Given the description of an element on the screen output the (x, y) to click on. 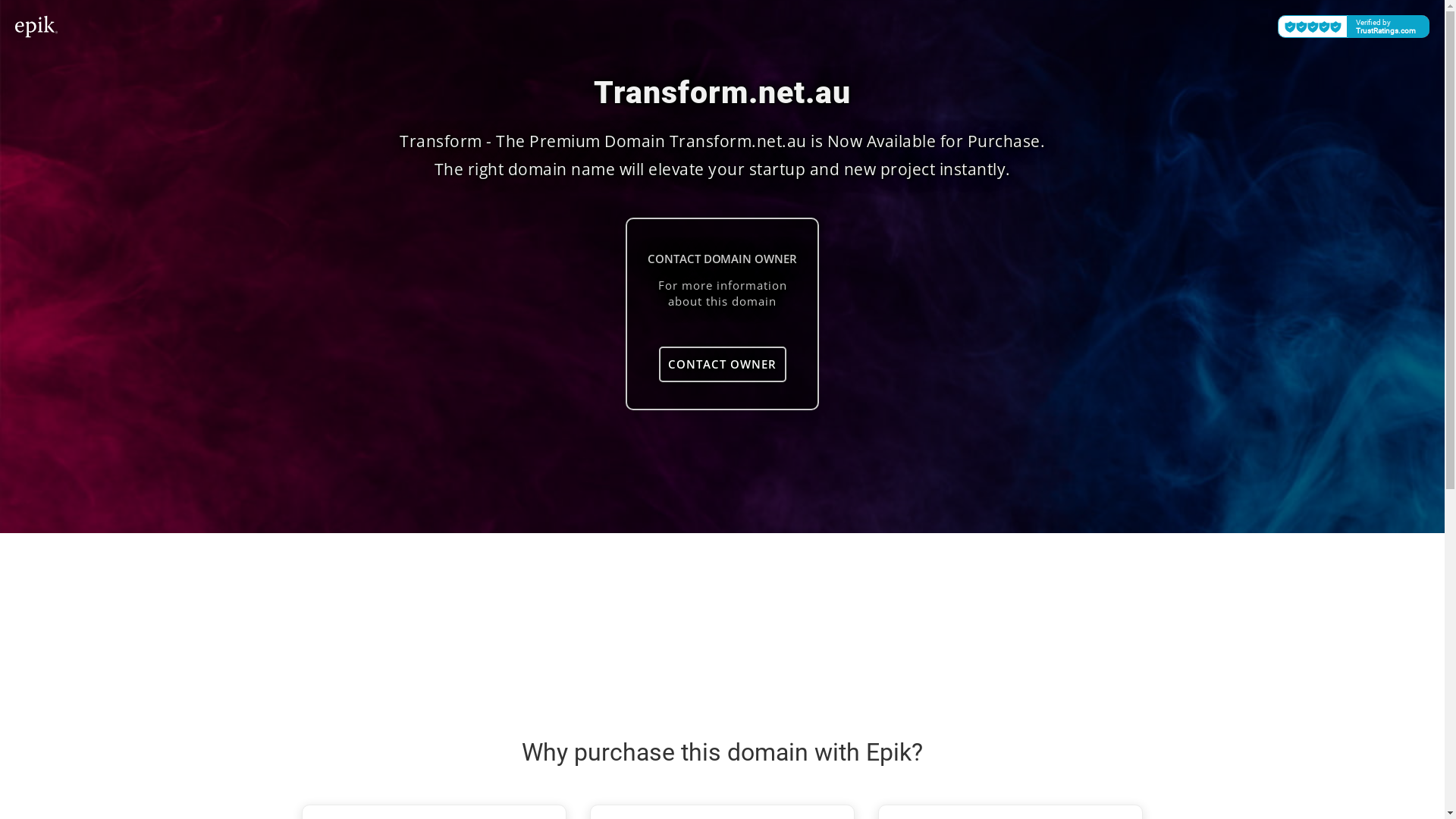
Verified by TrustRatings.com Element type: hover (1353, 26)
CONTACT OWNER Element type: text (721, 364)
